Given the description of an element on the screen output the (x, y) to click on. 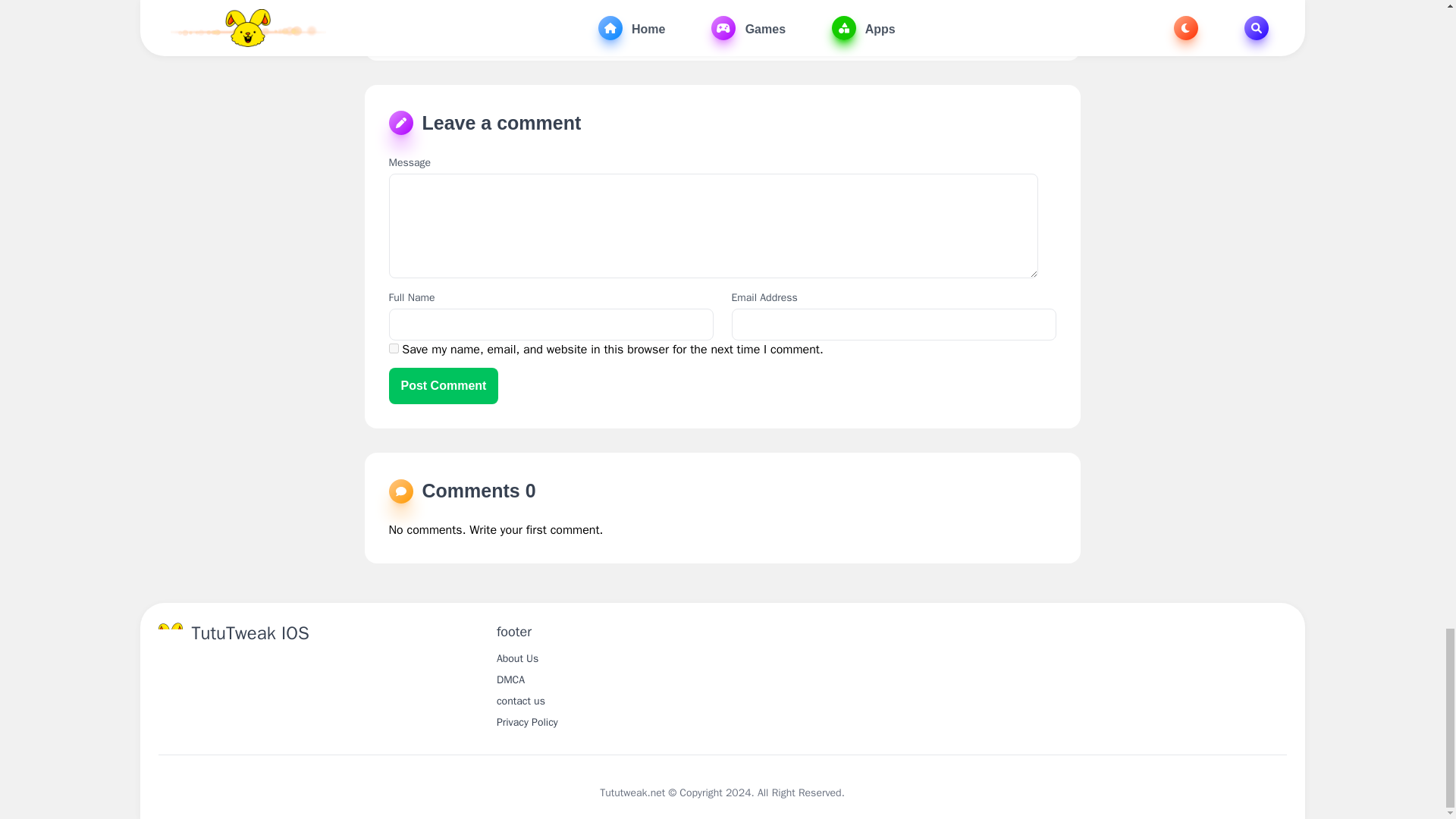
yes (392, 347)
